Given the description of an element on the screen output the (x, y) to click on. 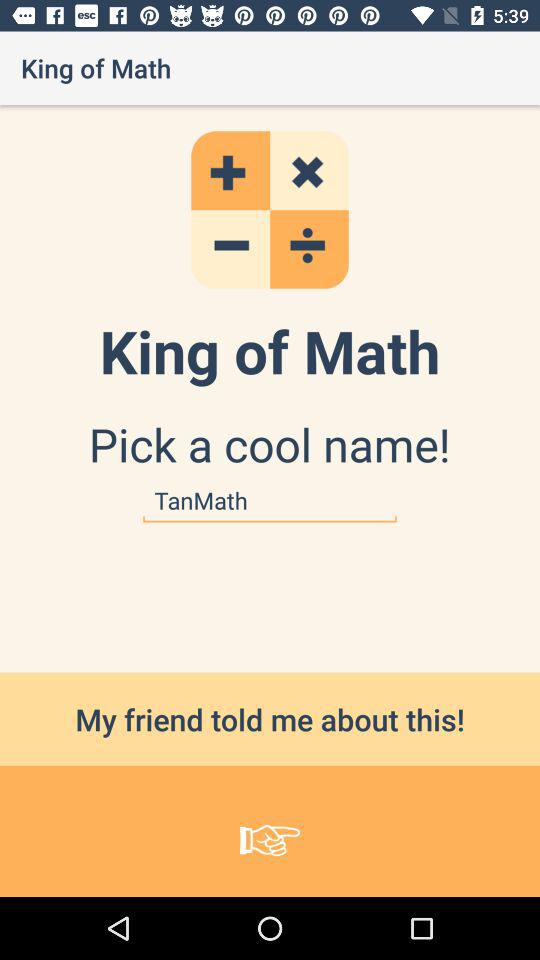
launch the item below the tanmath item (270, 718)
